Given the description of an element on the screen output the (x, y) to click on. 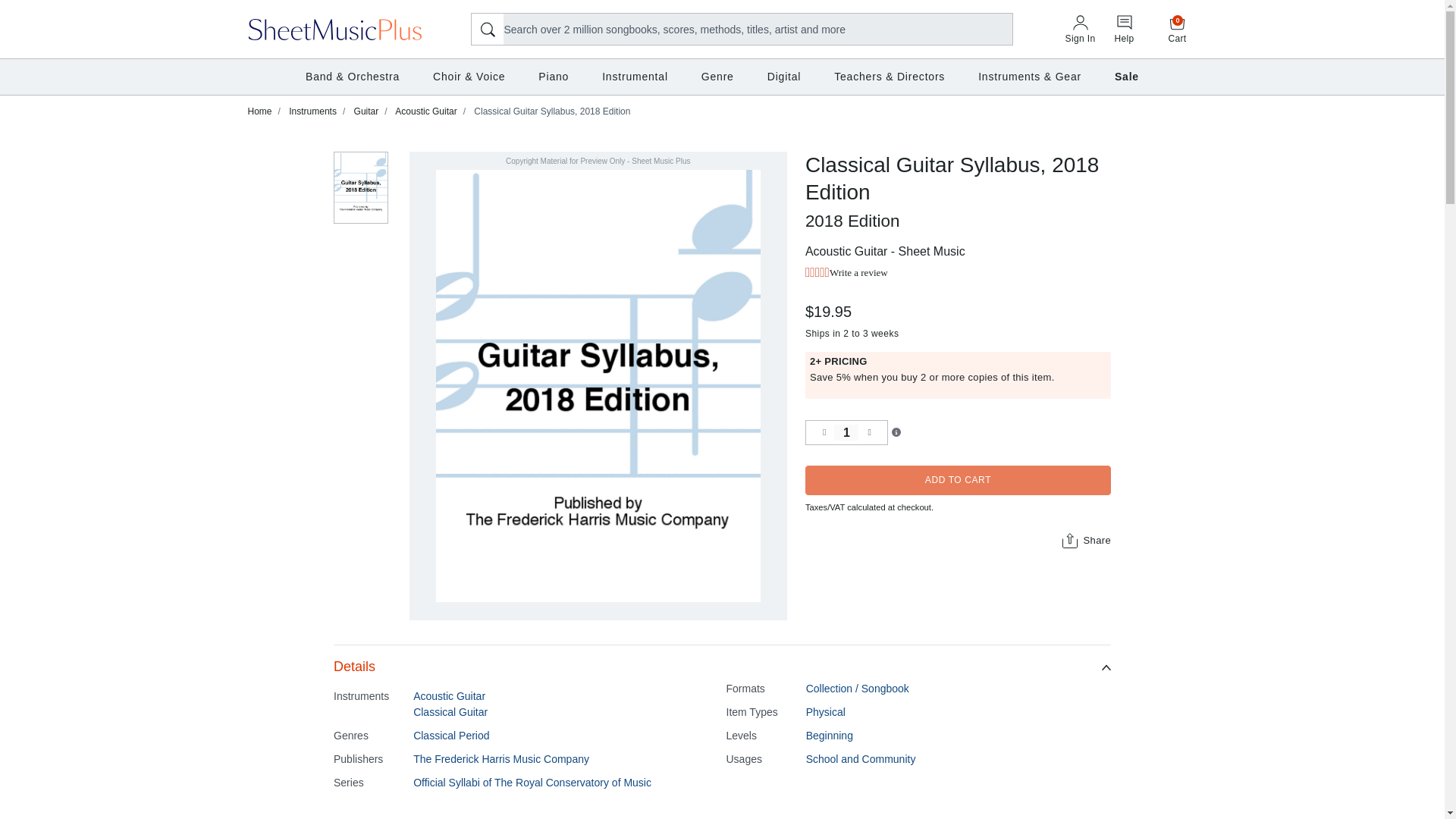
Sheet Music Plus Home (335, 28)
1 (846, 432)
Cart 0 Items (1177, 28)
Sign In (1177, 28)
Help (1080, 29)
